Given the description of an element on the screen output the (x, y) to click on. 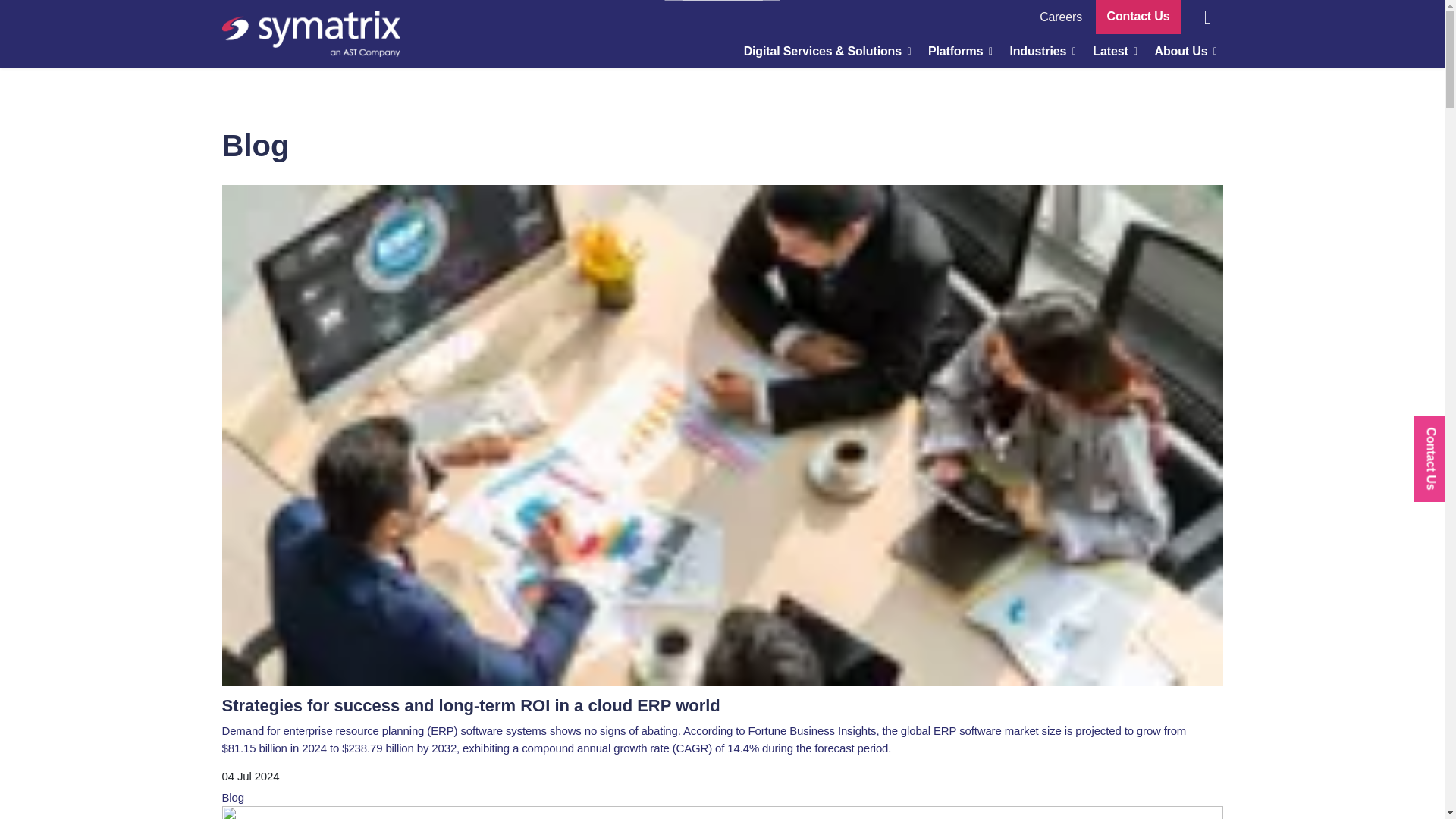
Industries (1039, 50)
Platforms (957, 50)
Symatrix (309, 33)
Blog (232, 797)
